Given the description of an element on the screen output the (x, y) to click on. 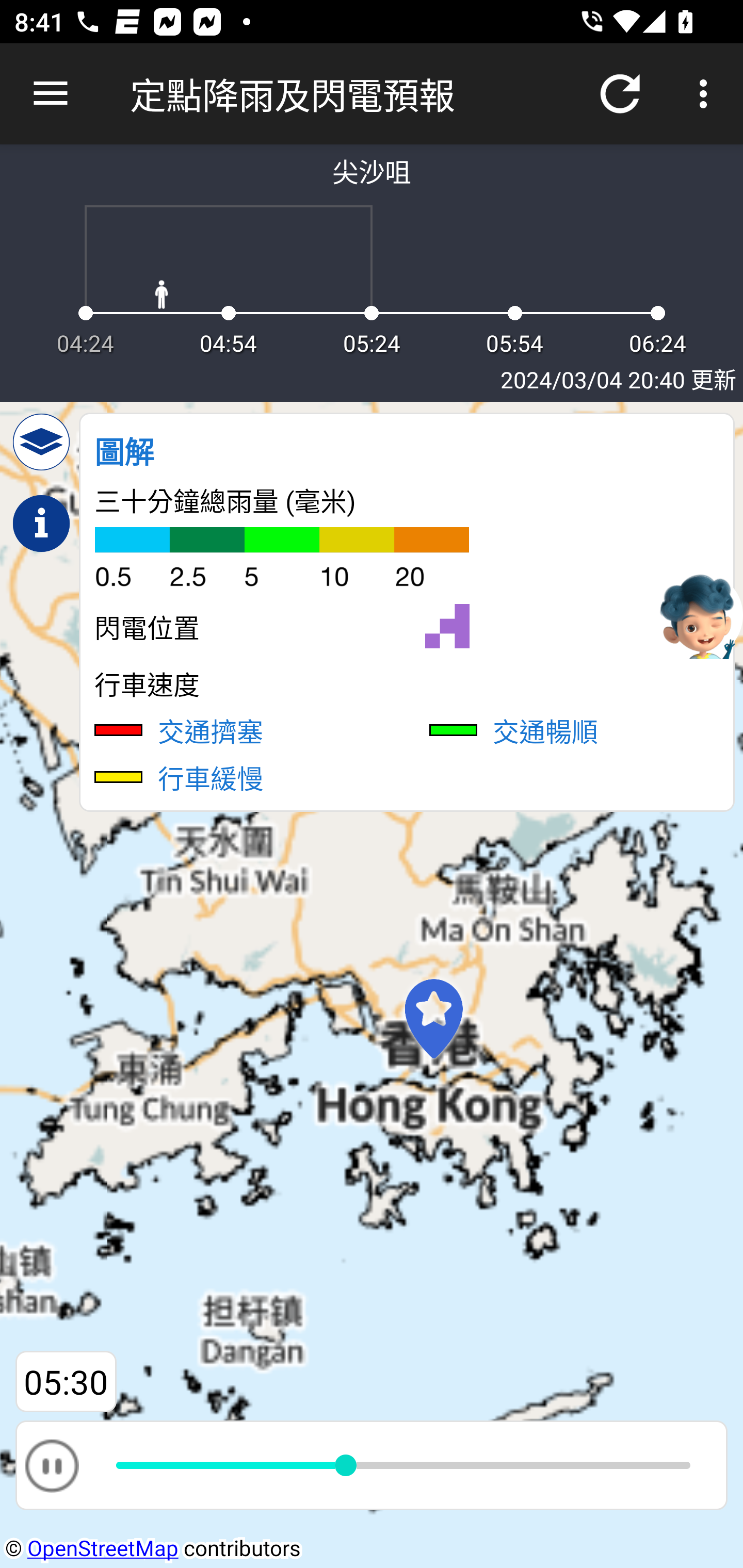
向上瀏覽 (50, 93)
重新整理 (619, 93)
更多選項 (706, 93)
選擇 圖層 (40, 441)
圖解 三十分鐘總雨量 (毫米) 降雨圖解 閃電位置 行車速度 交通擠塞 交通暢順 行車緩慢 (406, 612)
已選擇 說明 (40, 523)
聊天機械人 (699, 614)
05:30 (65, 1381)
暫停 6.0 (371, 1464)
暫停 (50, 1464)
